Given the description of an element on the screen output the (x, y) to click on. 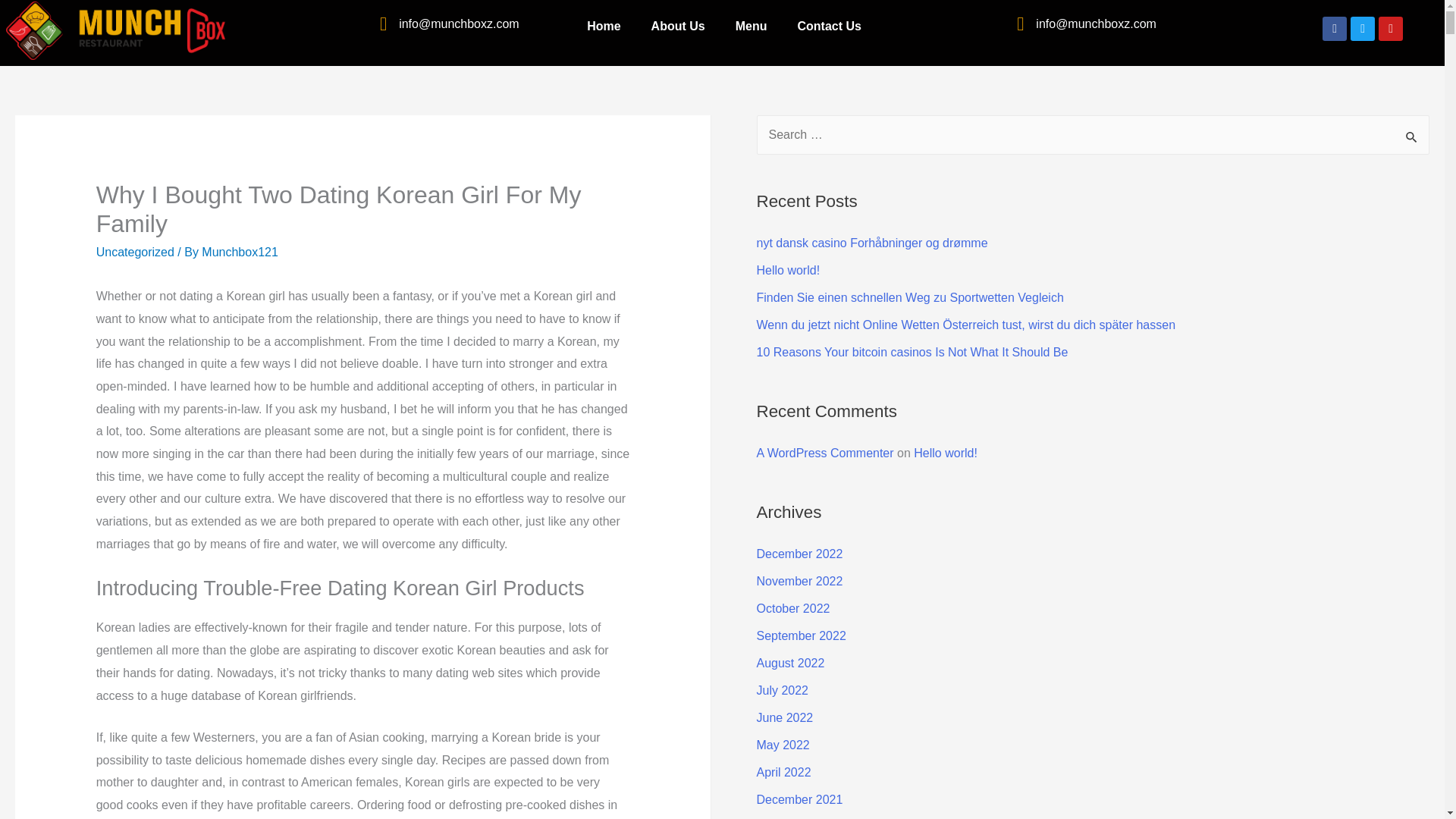
September 2022 (801, 635)
Munchbox121 (240, 251)
Contact Us (828, 26)
December 2021 (800, 799)
Menu (751, 26)
December 2022 (800, 553)
Home (603, 26)
About Us (678, 26)
August 2022 (791, 662)
Hello world! (945, 452)
November 2022 (800, 581)
October 2022 (793, 608)
A WordPress Commenter (825, 452)
Hello world! (789, 269)
View all posts by Munchbox121 (240, 251)
